Given the description of an element on the screen output the (x, y) to click on. 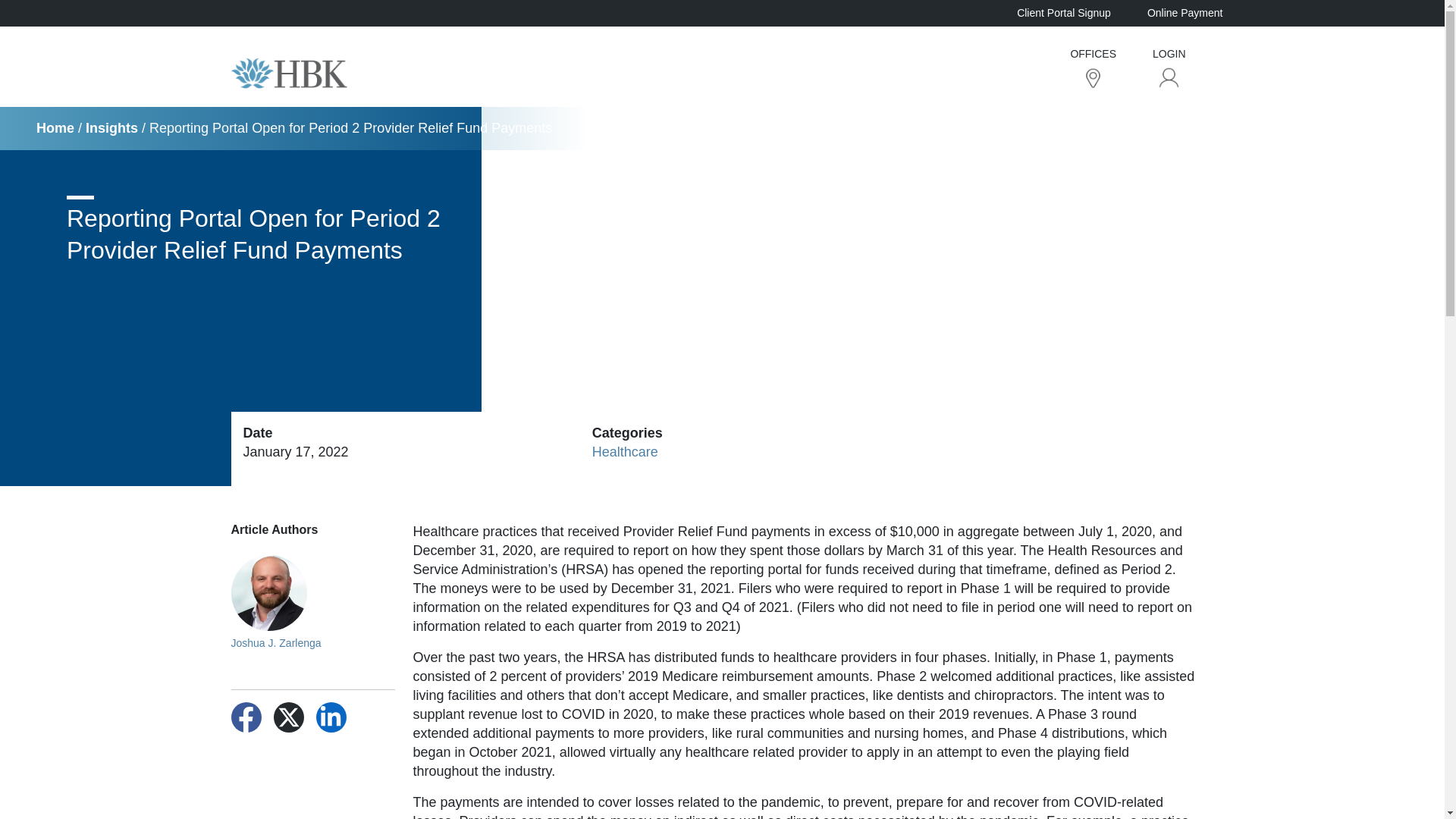
Joshua J. Zarlenga (312, 603)
Login (1168, 77)
Client Portal Signup (1063, 12)
Offices (1093, 77)
Online Payment (1185, 12)
